Given the description of an element on the screen output the (x, y) to click on. 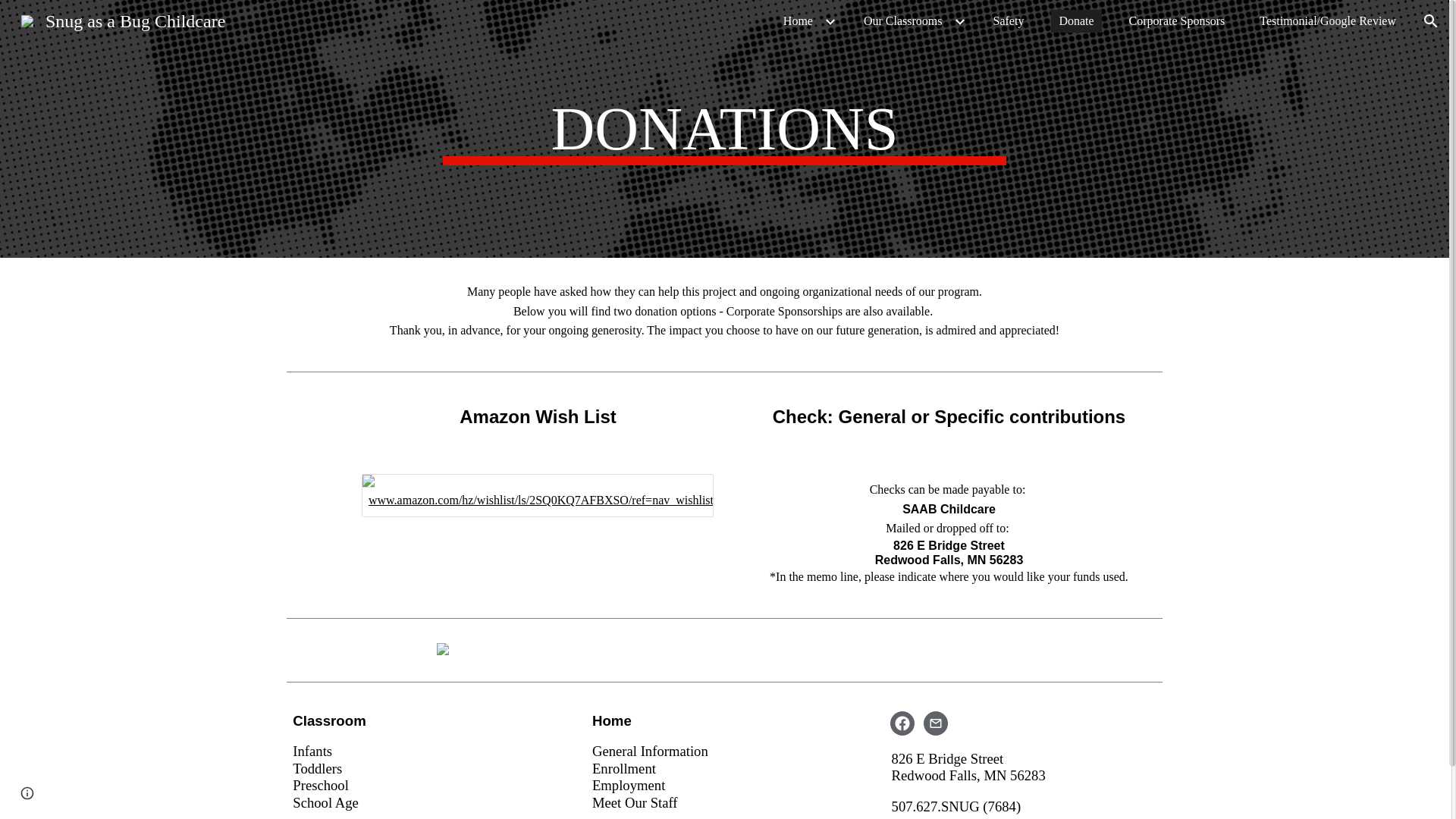
Our Classrooms (903, 20)
Home (798, 20)
Snug as a Bug Childcare (122, 19)
Corporate Sponsors (1177, 20)
Safety (1008, 20)
Donate (1075, 20)
